Given the description of an element on the screen output the (x, y) to click on. 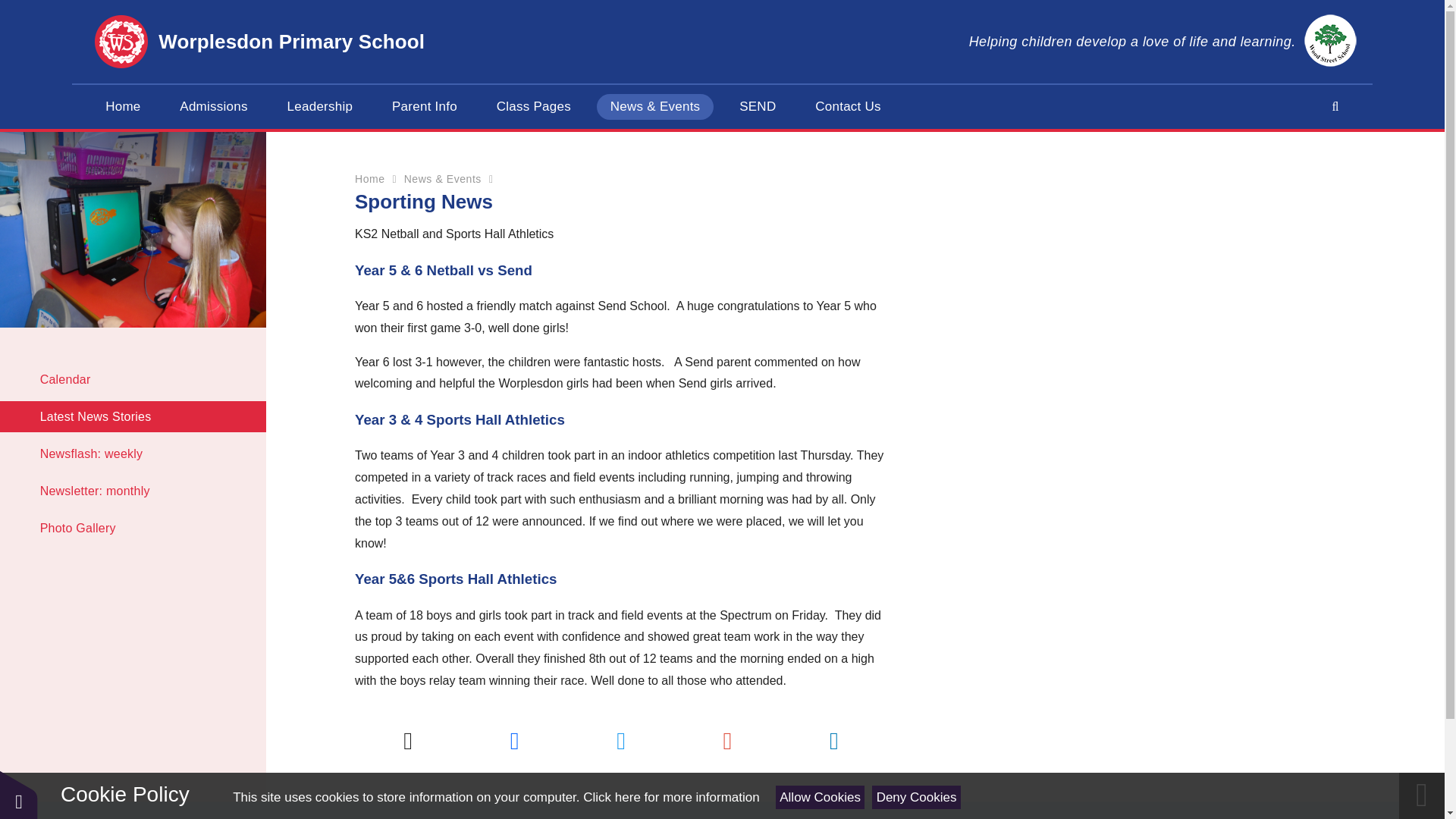
Admissions (212, 106)
Deny Cookies (915, 797)
Leadership (319, 106)
See cookie policy (670, 797)
Home (122, 106)
Wood Street School (1329, 41)
Allow Cookies (820, 797)
